Given the description of an element on the screen output the (x, y) to click on. 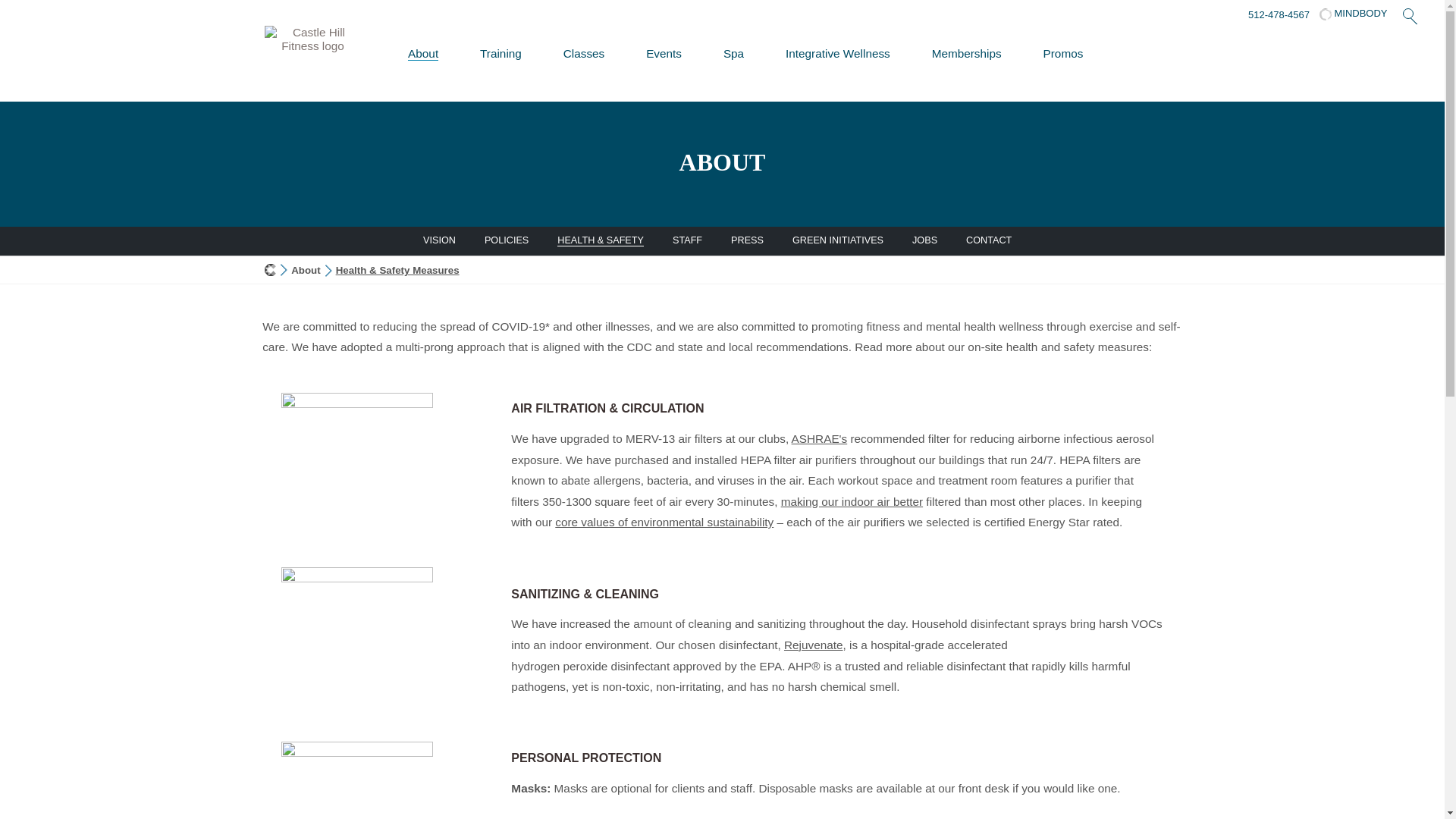
Events (663, 53)
Castle Hill Fitness homepage (270, 269)
Memberships (966, 53)
Access Your Account (1353, 13)
About (305, 270)
Search (1407, 16)
Castle Hill Fitness (311, 53)
Training (500, 53)
Integrative Wellness (837, 53)
Spa (733, 53)
